Given the description of an element on the screen output the (x, y) to click on. 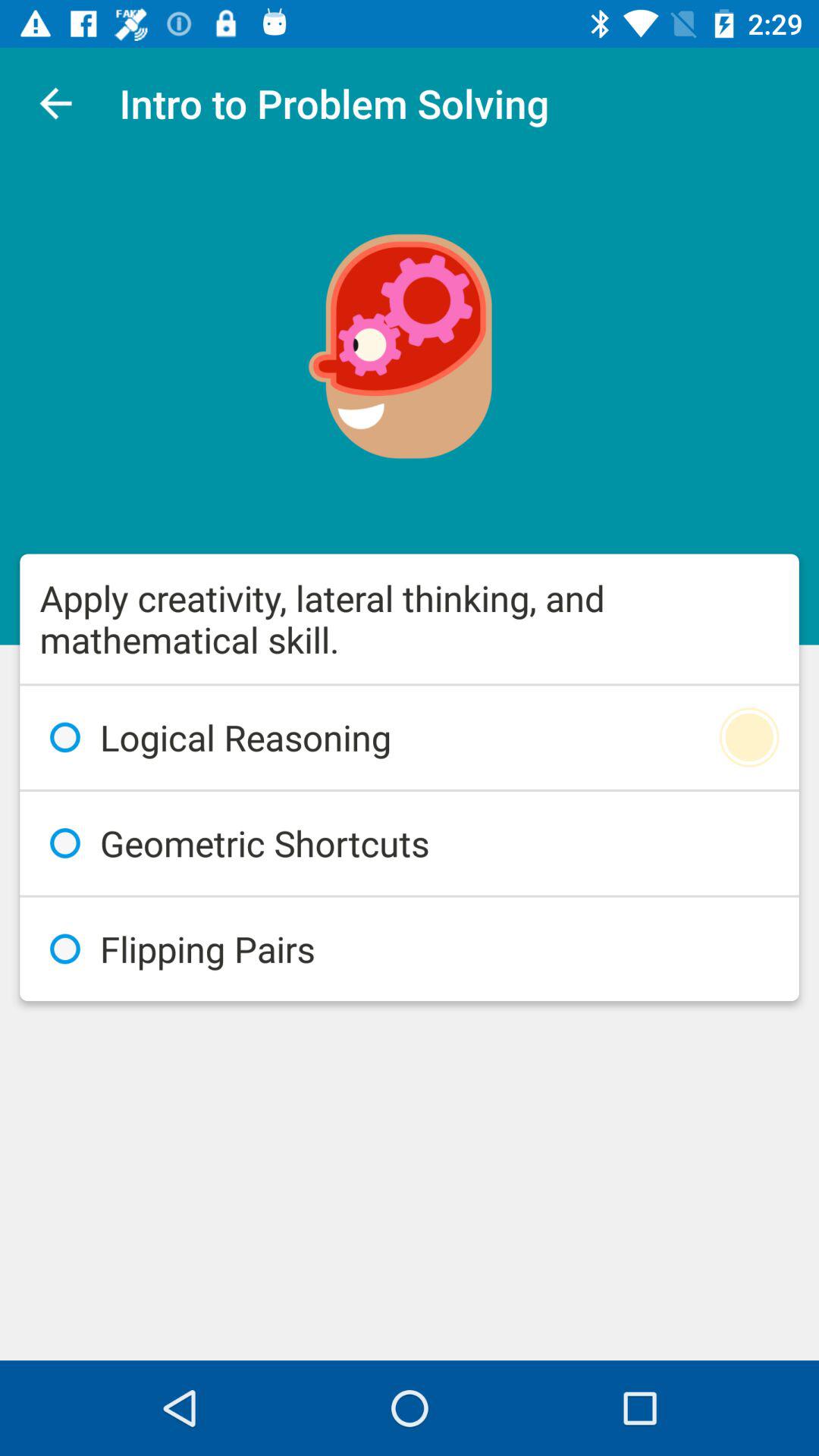
turn off icon above the apply creativity lateral item (55, 103)
